Given the description of an element on the screen output the (x, y) to click on. 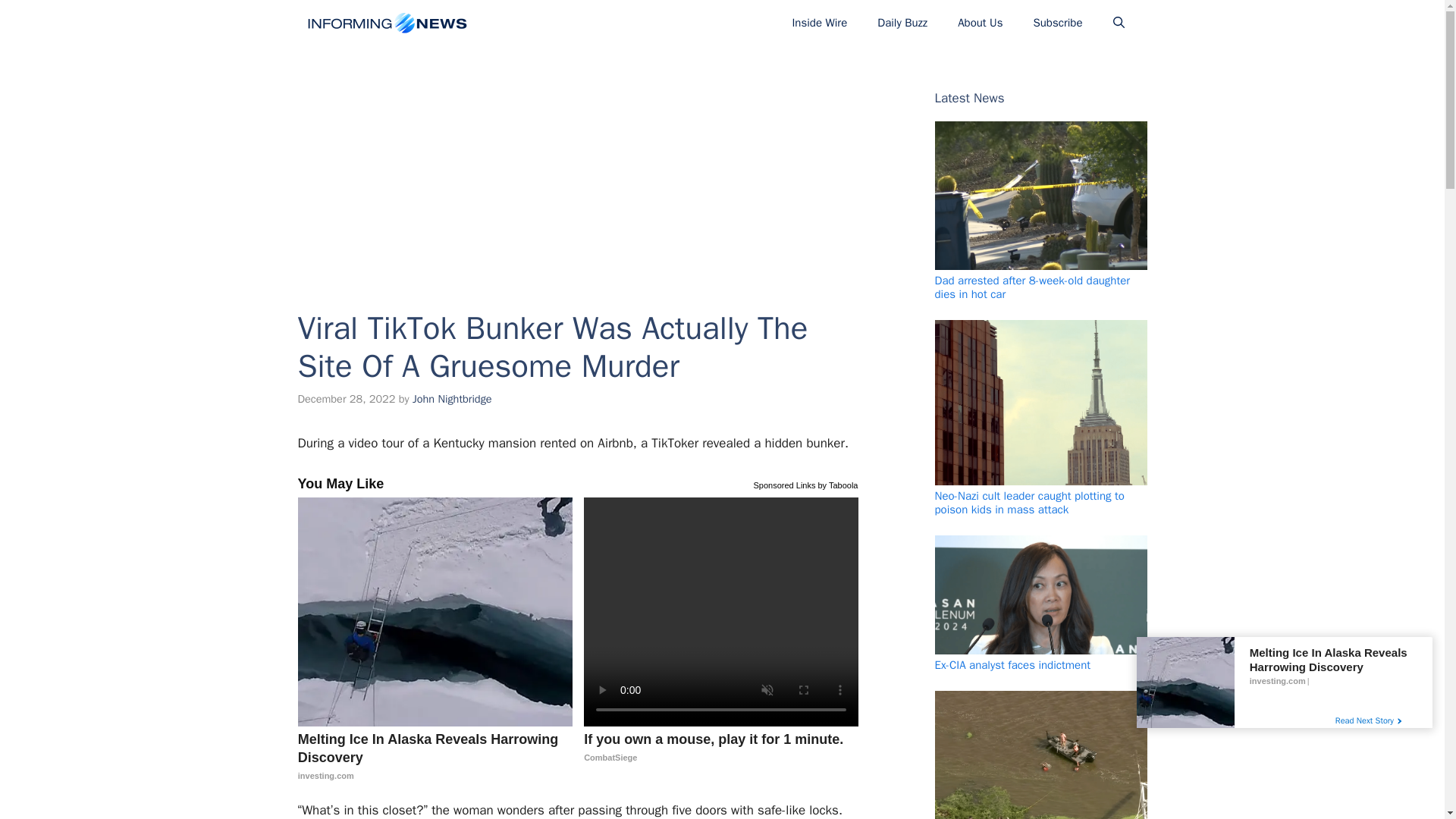
by Taboola (836, 483)
About Us (979, 22)
Daily Buzz (901, 22)
Subscribe (1057, 22)
John Nightbridge (721, 748)
Sponsored Links (452, 398)
Inside Wire (784, 483)
If you own a mouse, play it for 1 minute. (818, 22)
Informing News (721, 748)
Melting Ice In Alaska Reveals Harrowing Discovery (385, 22)
View all posts by John Nightbridge (435, 757)
Advertisement (452, 398)
